Given the description of an element on the screen output the (x, y) to click on. 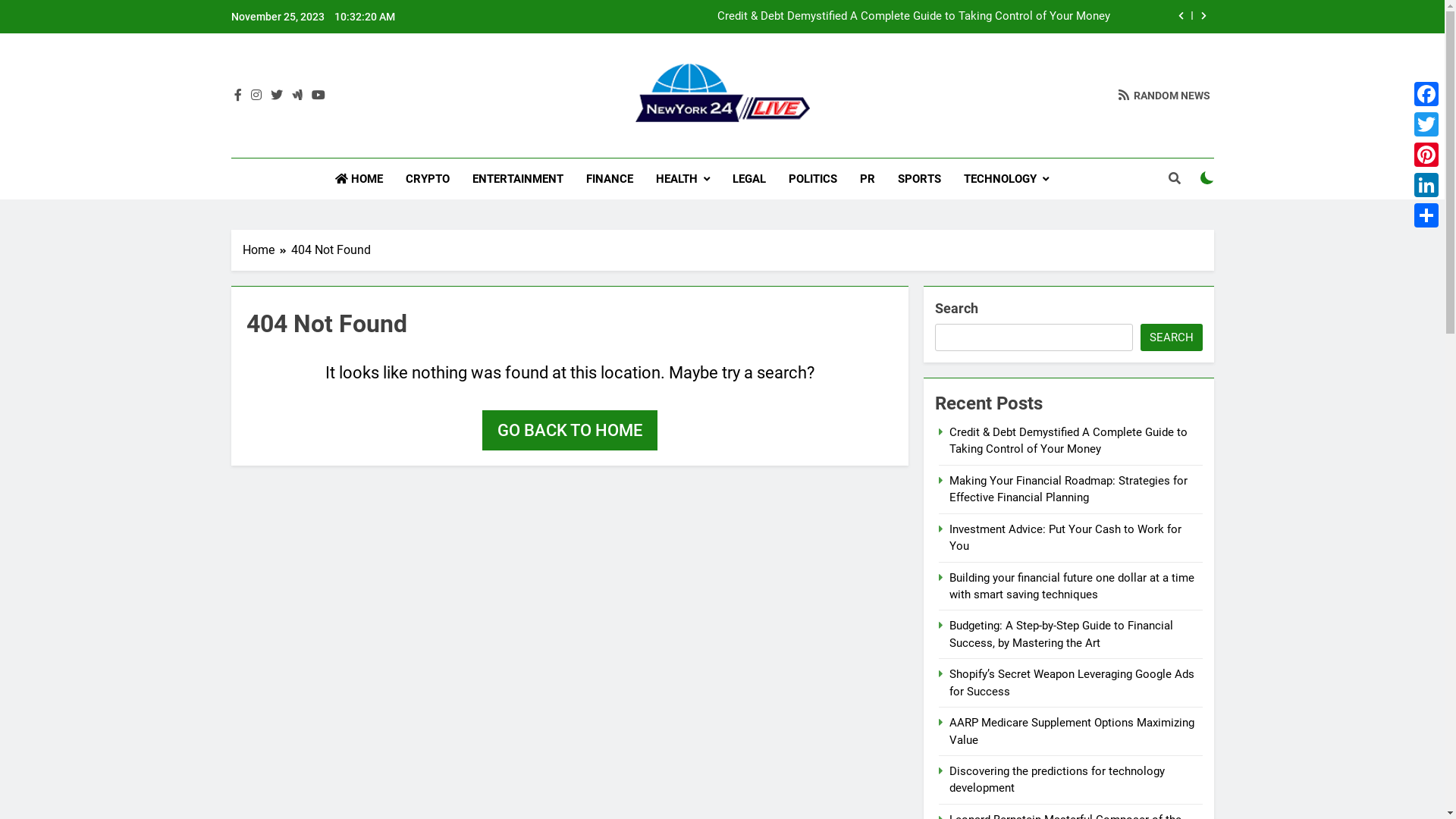
Home Element type: text (266, 250)
Discovering the predictions for technology development Element type: text (1056, 779)
LinkedIn Element type: text (1426, 184)
Investment Advice: Put Your Cash to Work for You Element type: text (1065, 537)
RANDOM NEWS Element type: text (1163, 94)
PR Element type: text (867, 178)
Share Element type: text (1426, 215)
Pinterest Element type: text (1426, 154)
SPORTS Element type: text (919, 178)
POLITICS Element type: text (812, 178)
ENTERTAINMENT Element type: text (517, 178)
HEALTH Element type: text (682, 178)
TECHNOLOGY Element type: text (1006, 178)
AARP Medicare Supplement Options Maximizing Value Element type: text (1071, 730)
GO BACK TO HOME Element type: text (569, 430)
Twitter Element type: text (1426, 124)
Facebook Element type: text (1426, 93)
FINANCE Element type: text (609, 178)
SEARCH Element type: text (1171, 337)
Canada News Element type: text (589, 144)
CRYPTO Element type: text (427, 178)
LEGAL Element type: text (749, 178)
HOME Element type: text (358, 178)
